Given the description of an element on the screen output the (x, y) to click on. 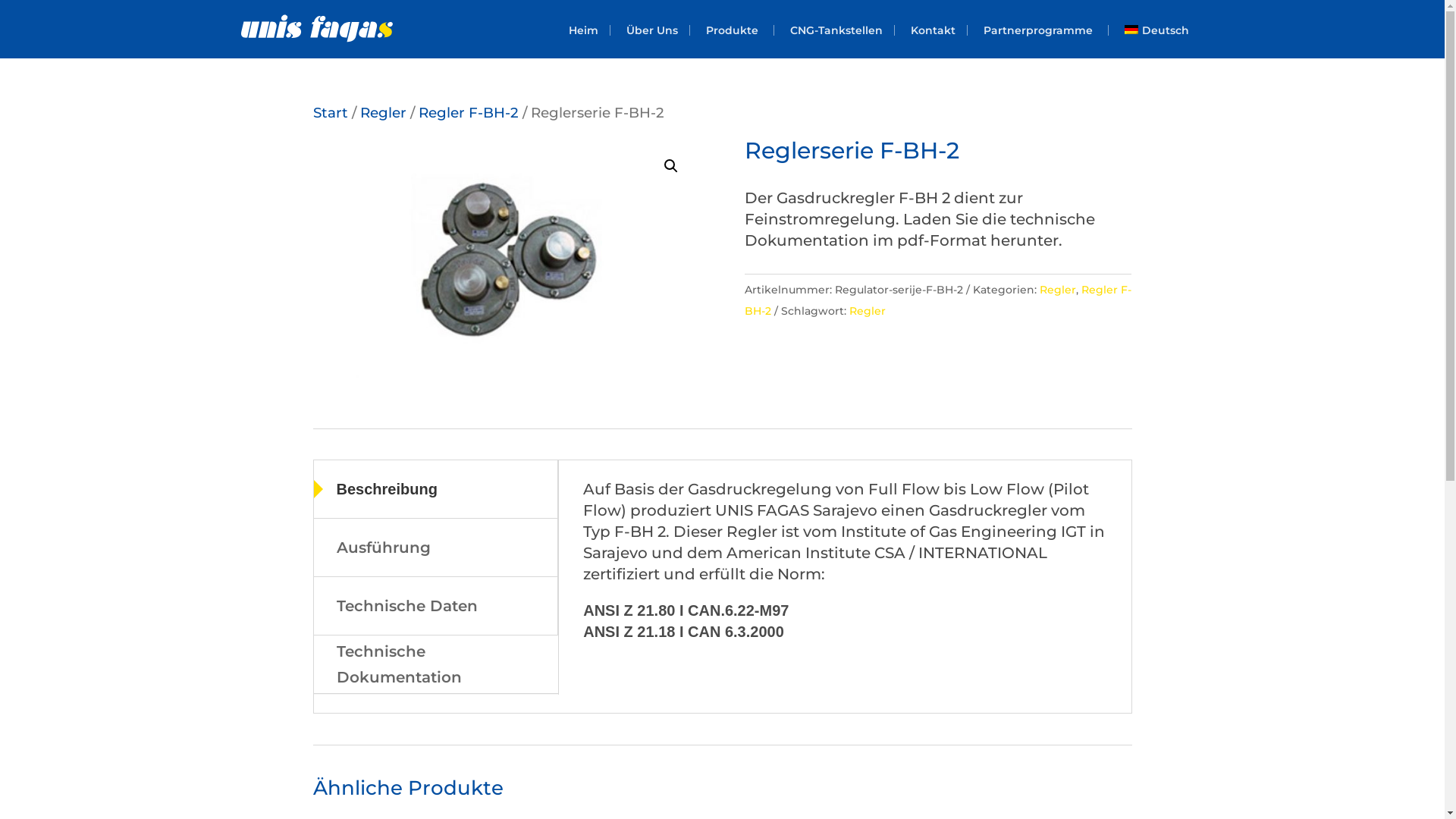
Regler F-BH-2 Element type: text (468, 112)
Regler Element type: text (1057, 289)
Regler Element type: text (867, 310)
fb-2 Element type: hover (505, 257)
Kontakt Element type: text (933, 30)
Produkte Element type: text (734, 30)
Deutsch Element type: text (1158, 30)
Partnerprogramme Element type: text (1040, 30)
CNG-Tankstellen Element type: text (836, 30)
Beschreibung Element type: text (435, 488)
Start Element type: text (329, 112)
Regler F-BH-2 Element type: text (937, 299)
Heim Element type: text (583, 30)
Regler Element type: text (382, 112)
Technische Dokumentation Element type: text (435, 664)
Technische Daten Element type: text (435, 605)
